Given the description of an element on the screen output the (x, y) to click on. 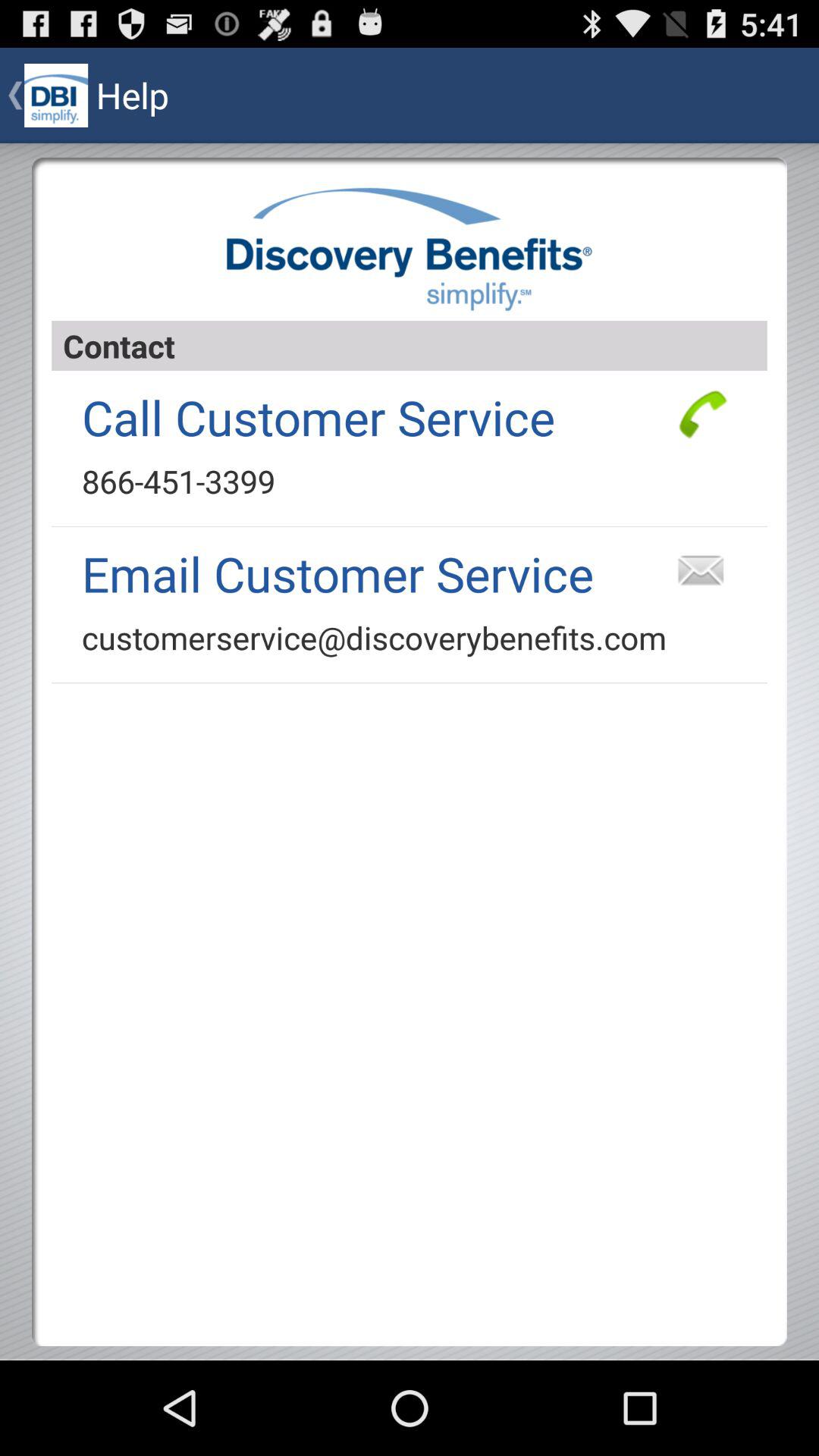
press app above email customer service item (178, 480)
